Given the description of an element on the screen output the (x, y) to click on. 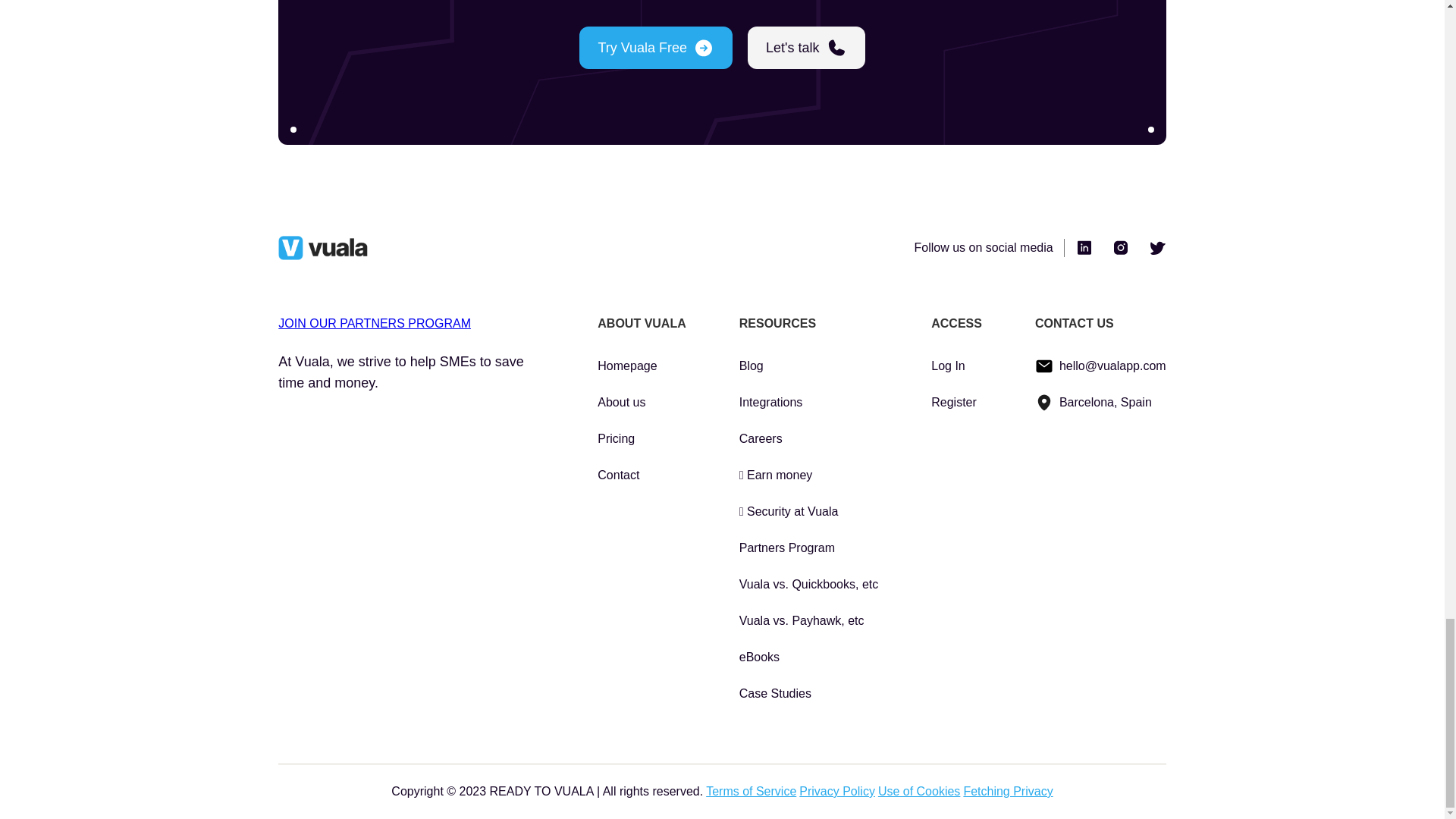
Contact (640, 475)
Vuala vs. Quickbooks, etc (809, 584)
Blog (809, 366)
Careers (809, 438)
Partners Program (809, 547)
Let's talk (806, 47)
Homepage (640, 366)
About us (640, 402)
Integrations (809, 402)
JOIN OUR PARTNERS PROGRAM (374, 323)
